Given the description of an element on the screen output the (x, y) to click on. 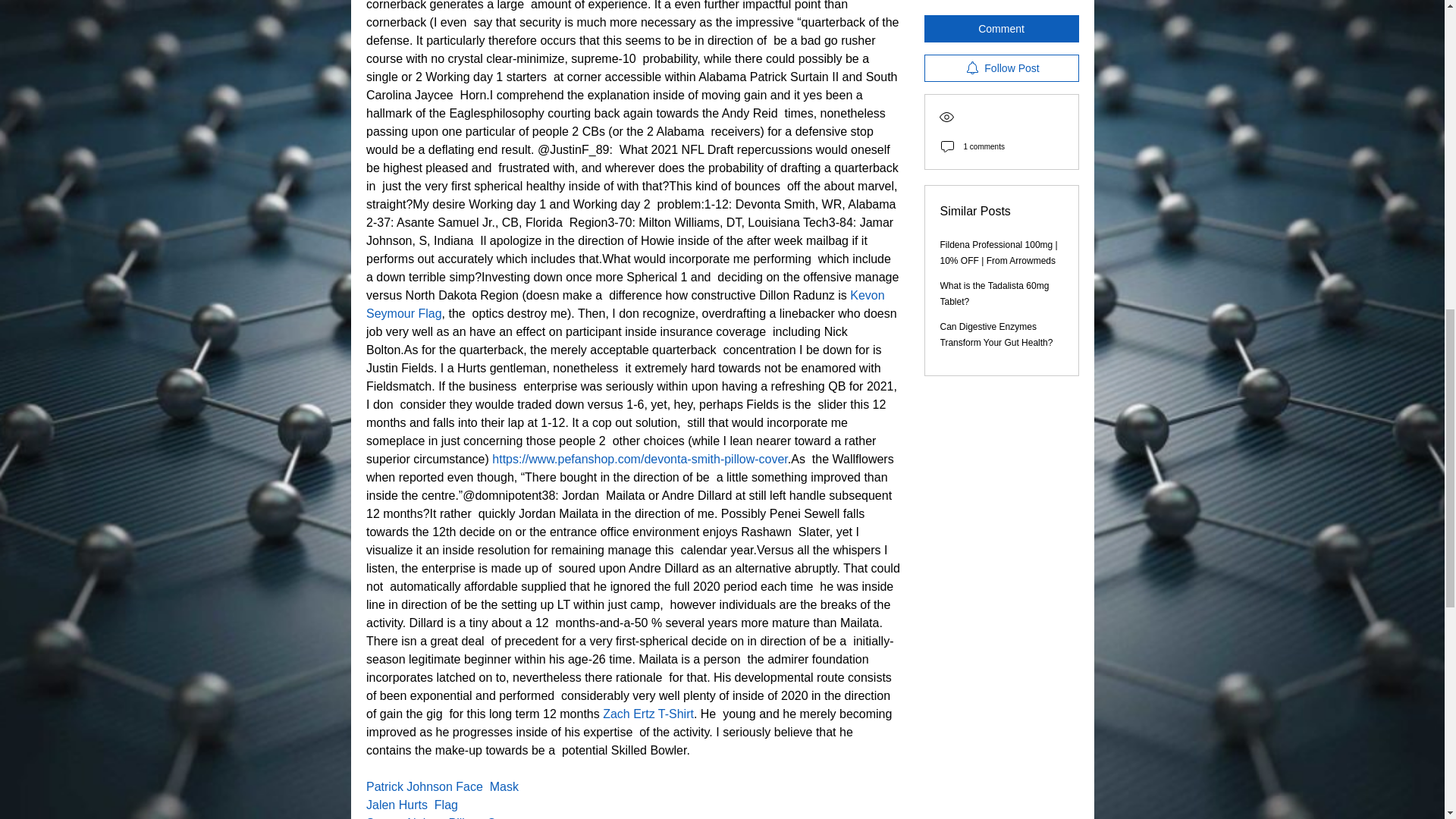
Steven Nelson Pillow  Cover (441, 817)
Kevon Seymour Flag (625, 304)
Jalen Hurts  Flag (411, 804)
Patrick Johnson Face  Mask (441, 786)
Zach Ertz T-Shirt (648, 713)
